Given the description of an element on the screen output the (x, y) to click on. 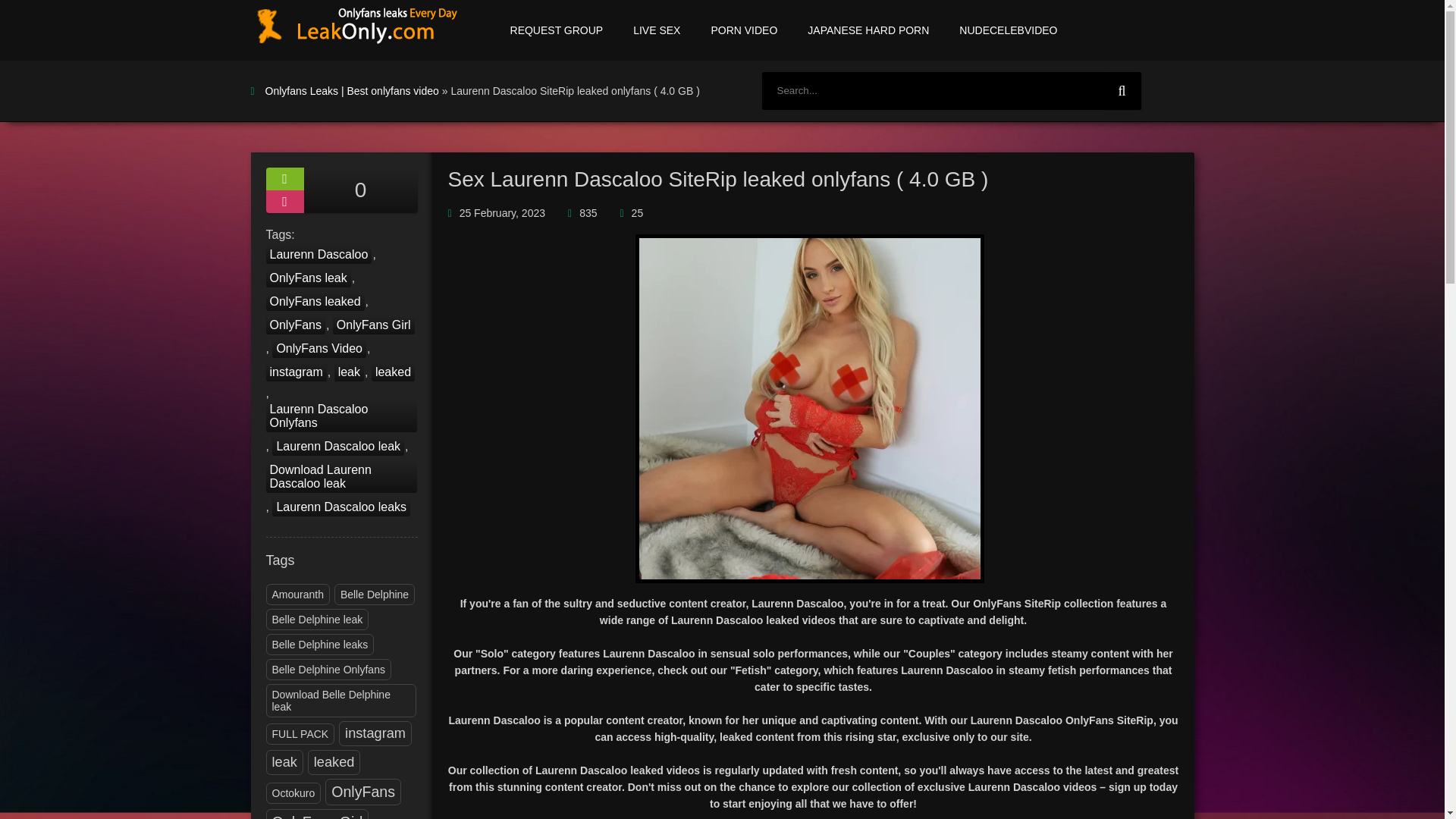
leak (284, 762)
Belle Delphine (373, 594)
Publication found: 23892 (333, 762)
FULL PACK (300, 733)
Publication found: 23934 (363, 791)
Search (1121, 90)
LeakOnly.com (356, 30)
Publication found: 22 (317, 619)
JAPANESE HARD PORN (867, 30)
Publication found: 24 (293, 792)
